Given the description of an element on the screen output the (x, y) to click on. 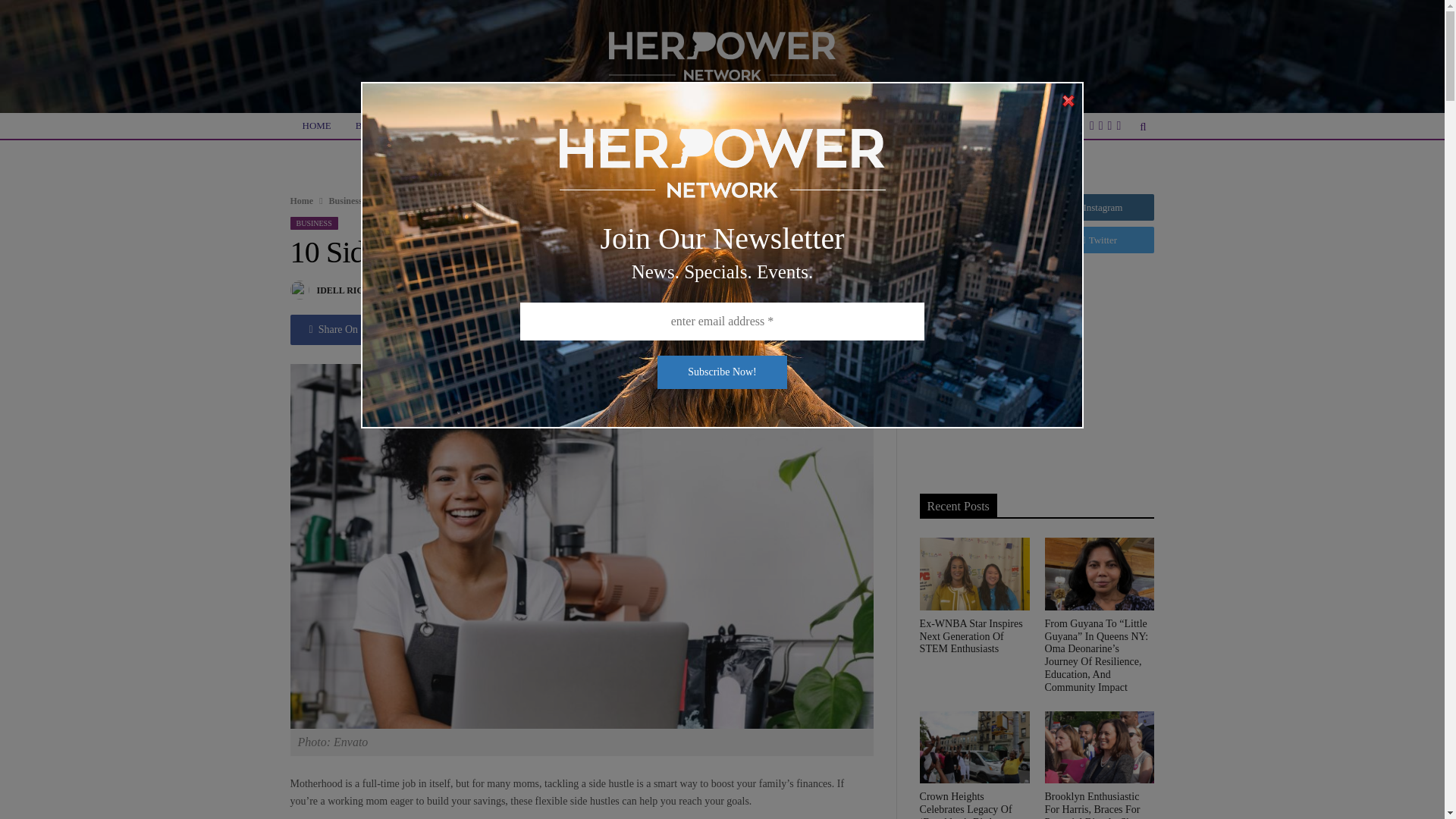
Subscribe Now! (722, 372)
Posts by Idell Richardson (363, 290)
BUSINESS (378, 125)
Subscribe Now! (722, 372)
FASHION (519, 125)
HEALTH (584, 125)
BUSINESS (313, 223)
POLITICS (649, 125)
IDELL RICHARDSON (363, 290)
HOME (315, 125)
